Given the description of an element on the screen output the (x, y) to click on. 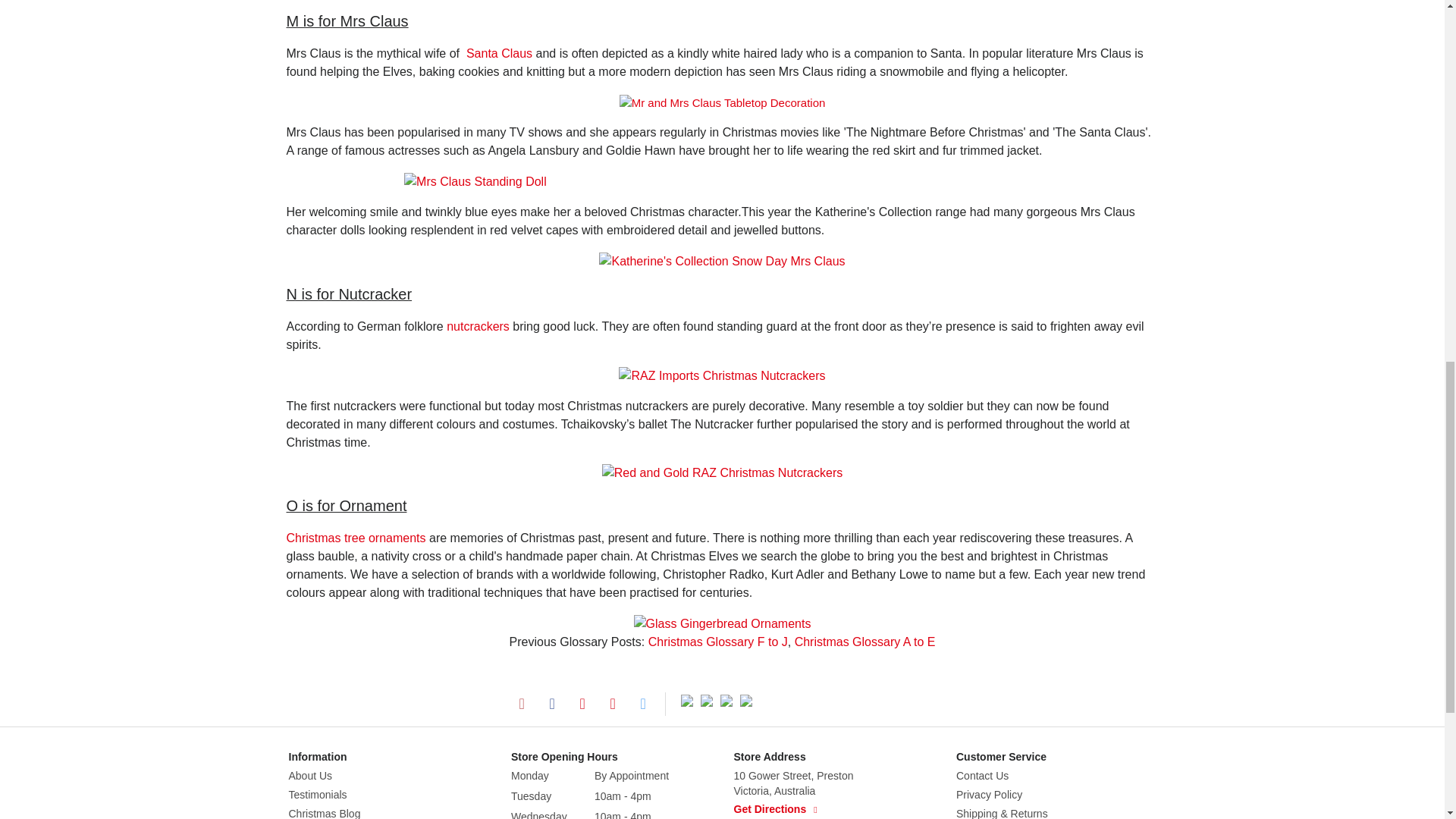
Glass Gingerbread Ornaments (721, 624)
Mr and Mrs Claus Tabletop Decoration (722, 103)
RAZ Imports Christmas Nutcrackers (721, 375)
Mrs Claus Standing Doll (475, 181)
Red and Gold RAZ Christmas Nutcrackers (722, 473)
Katherine's Collection Snow Day Mrs Claus (721, 261)
